Given the description of an element on the screen output the (x, y) to click on. 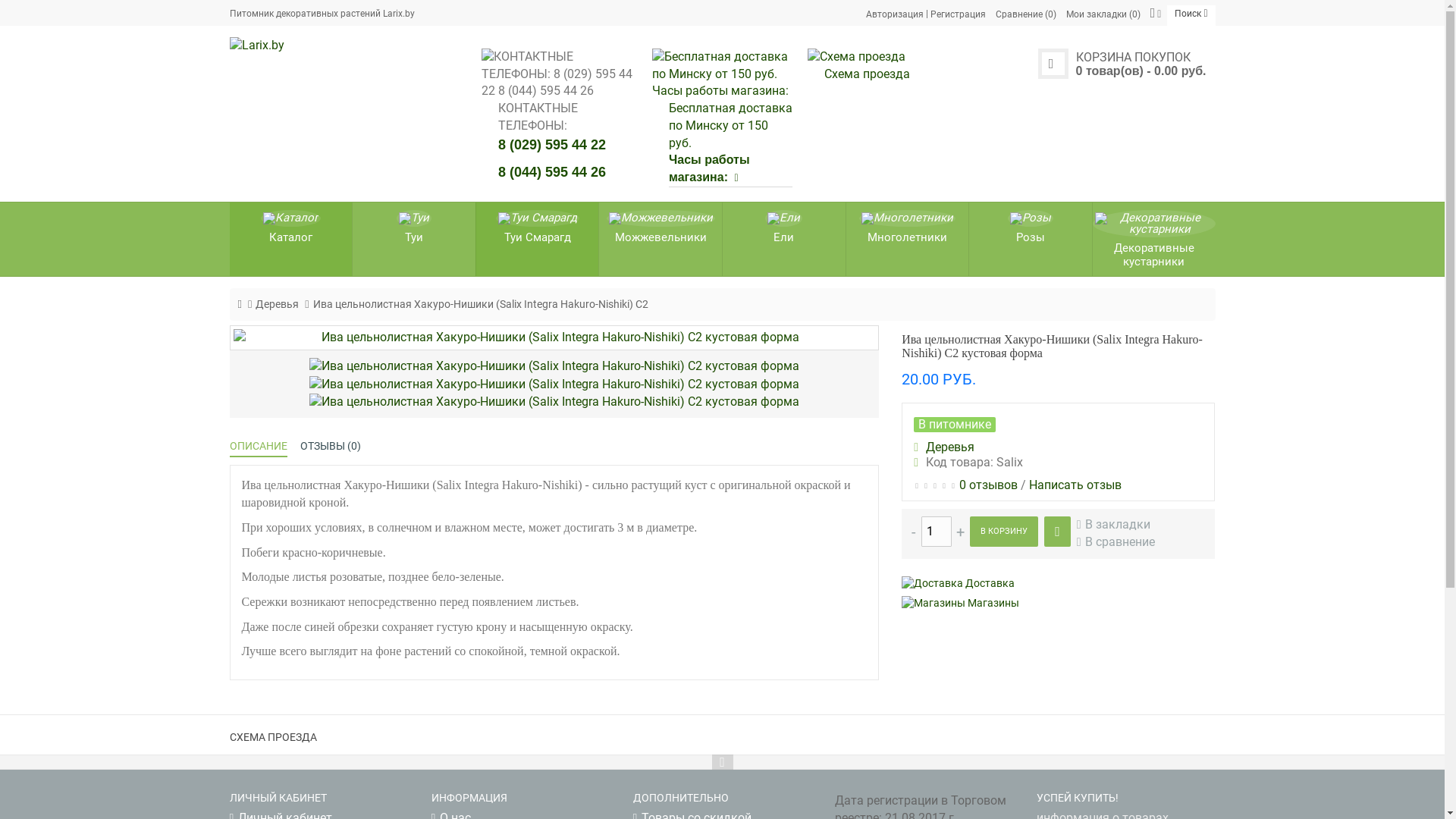
8 (029) 595 44 22 Element type: text (551, 144)
Larix.by Element type: hover (343, 45)
8 (044) 595 44 26 Element type: text (551, 171)
